Given the description of an element on the screen output the (x, y) to click on. 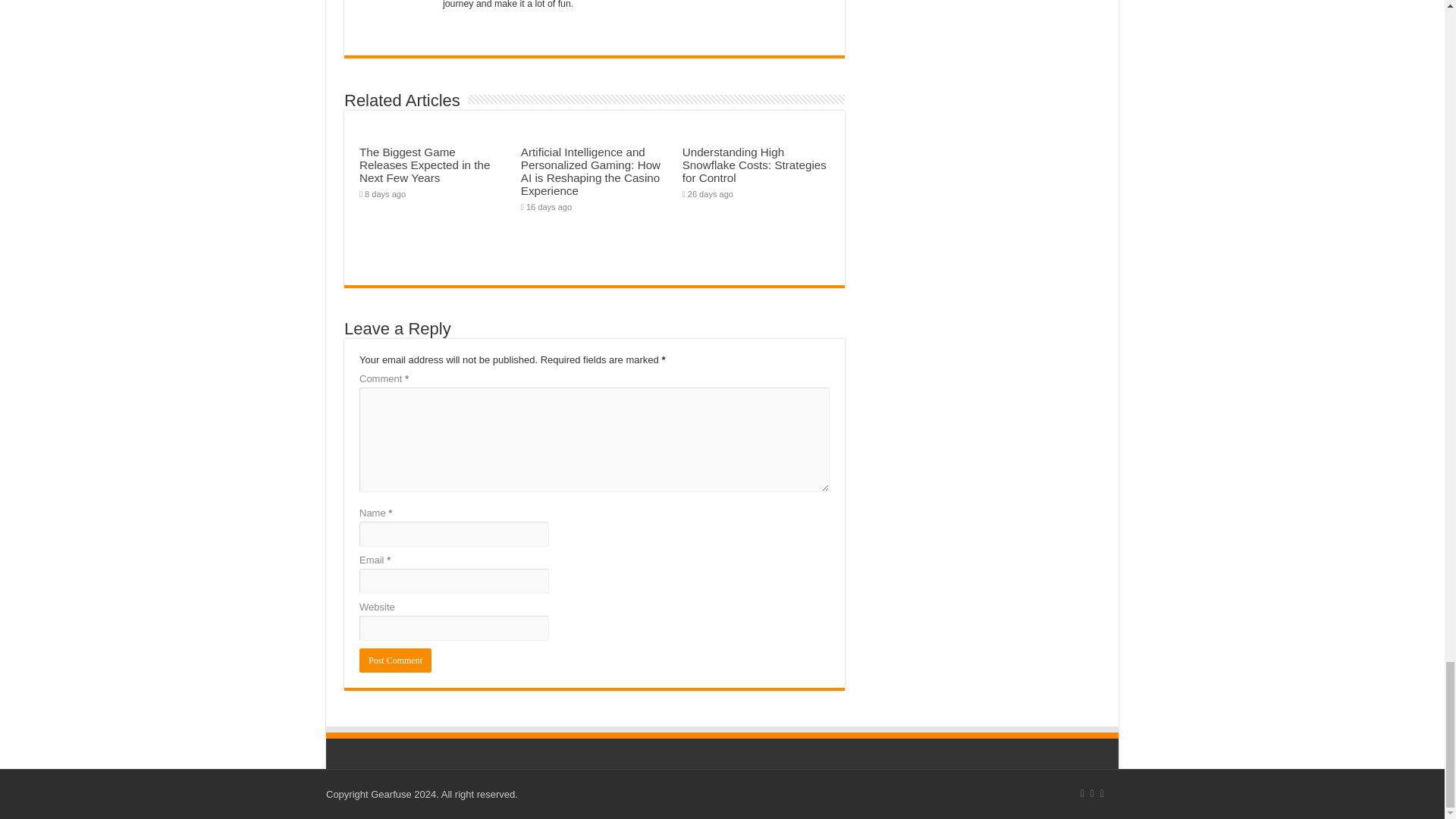
Post Comment (394, 660)
